Given the description of an element on the screen output the (x, y) to click on. 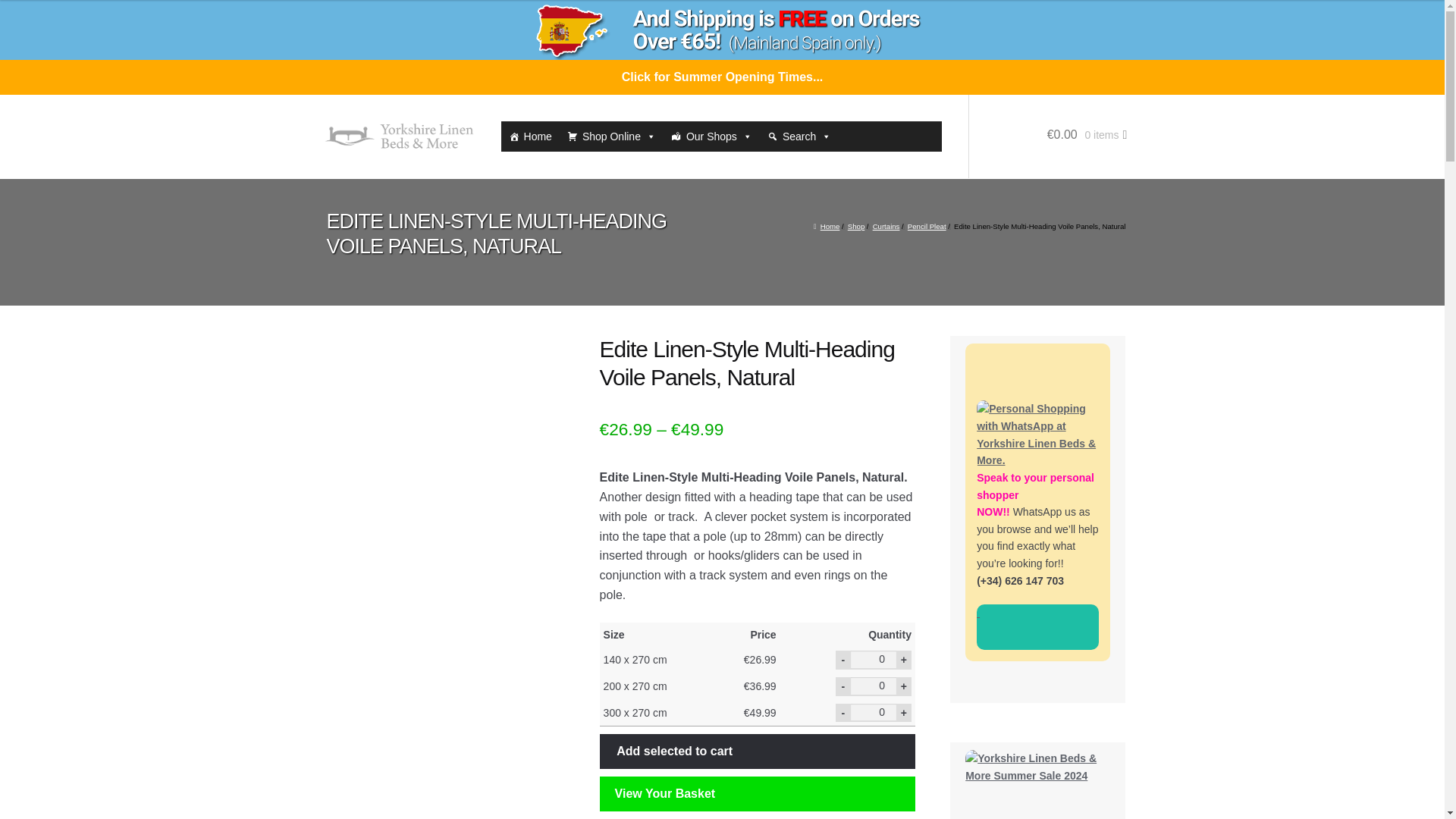
View your shopping basket (1047, 150)
Shop Online (611, 136)
Qty (873, 712)
Qty (873, 685)
Call us for Personal Shopping on Whatsapp Now! (1037, 627)
0 (873, 712)
0 (873, 685)
Home (529, 136)
0 (873, 659)
Qty (873, 659)
